Given the description of an element on the screen output the (x, y) to click on. 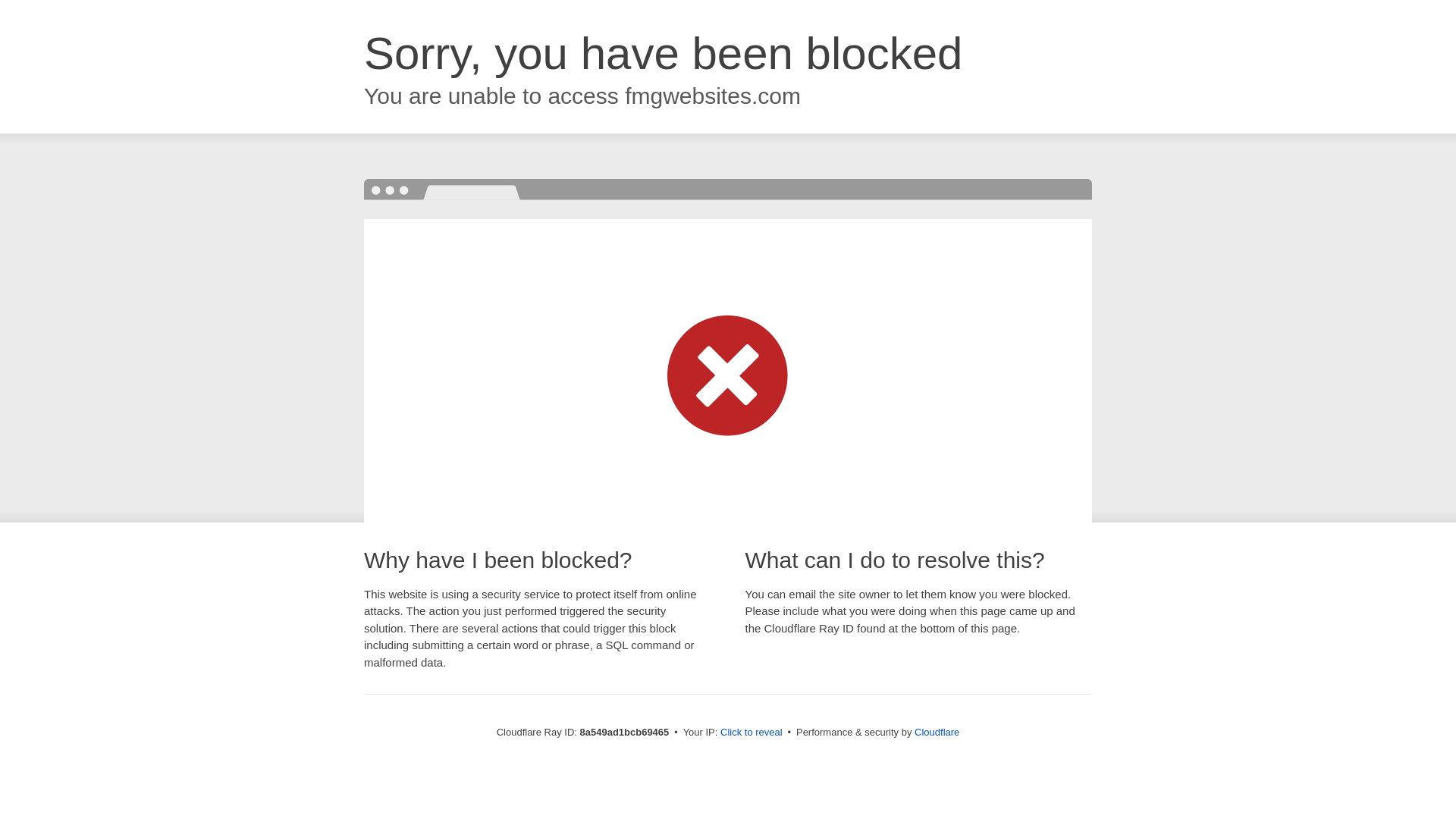
Cloudflare (936, 731)
Click to reveal (751, 732)
